Given the description of an element on the screen output the (x, y) to click on. 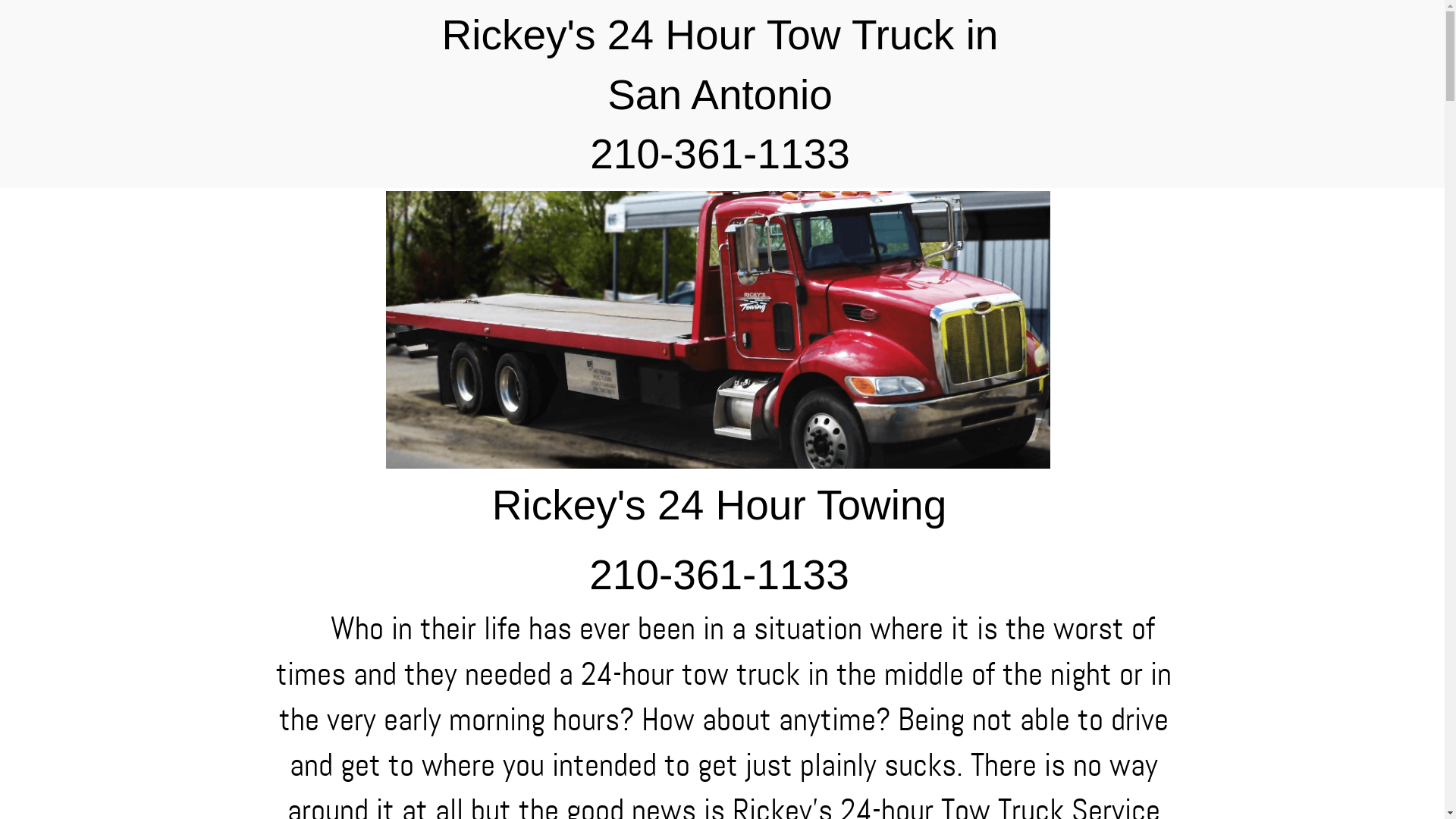
210-361-1133 Element type: text (719, 574)
Image Title Element type: hover (717, 330)
210-361-1133 Element type: text (719, 153)
